Given the description of an element on the screen output the (x, y) to click on. 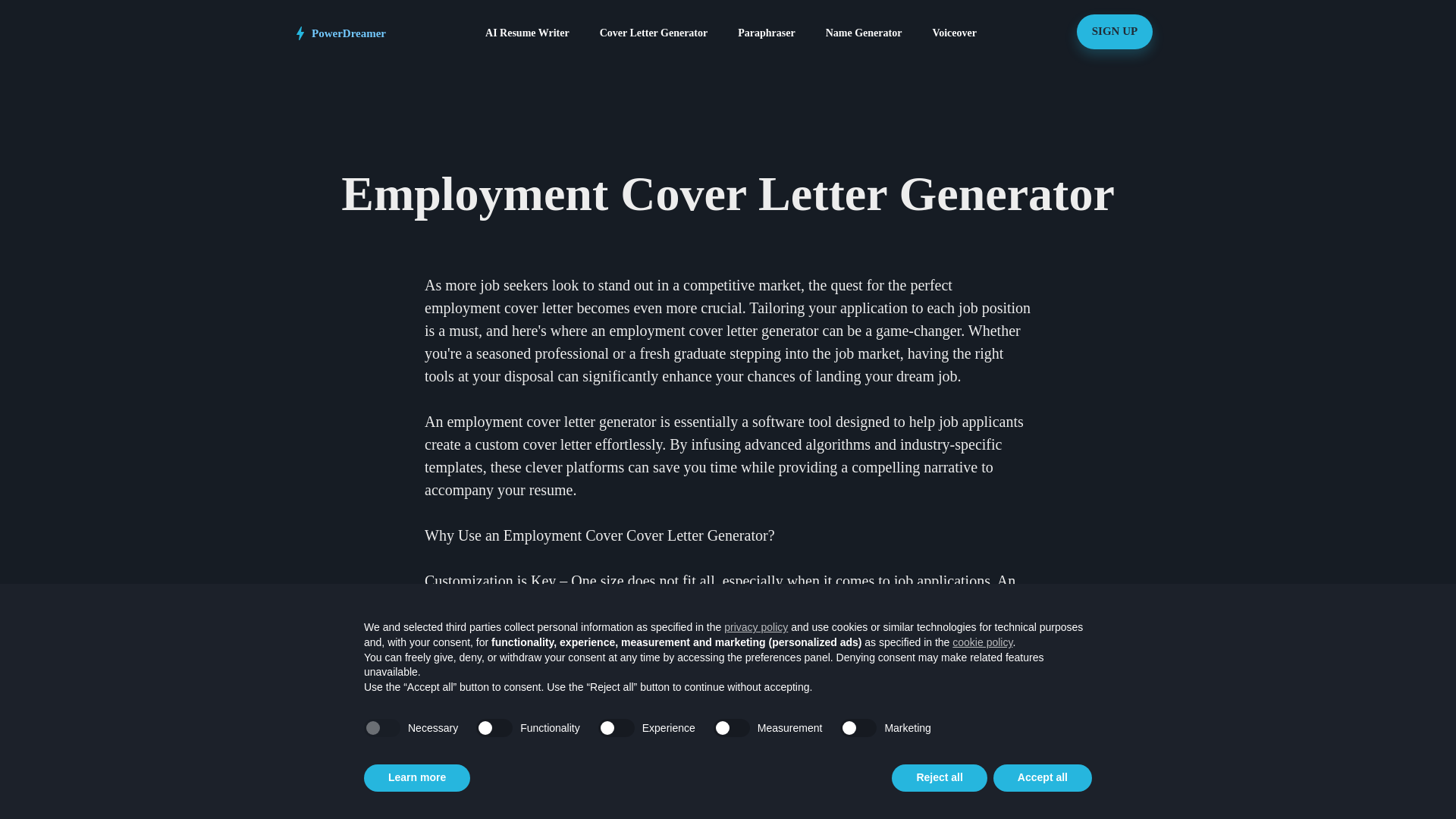
Name Generator (863, 33)
false (616, 728)
false (731, 728)
Voiceover (953, 33)
privacy policy (755, 626)
Cover Letter Generator (653, 33)
false (494, 728)
false (858, 728)
AI Resume Writer (526, 33)
Accept all (1042, 777)
Reject all (939, 777)
SIGN UP (1115, 31)
cookie policy (981, 642)
Learn more (417, 777)
true (382, 728)
